Given the description of an element on the screen output the (x, y) to click on. 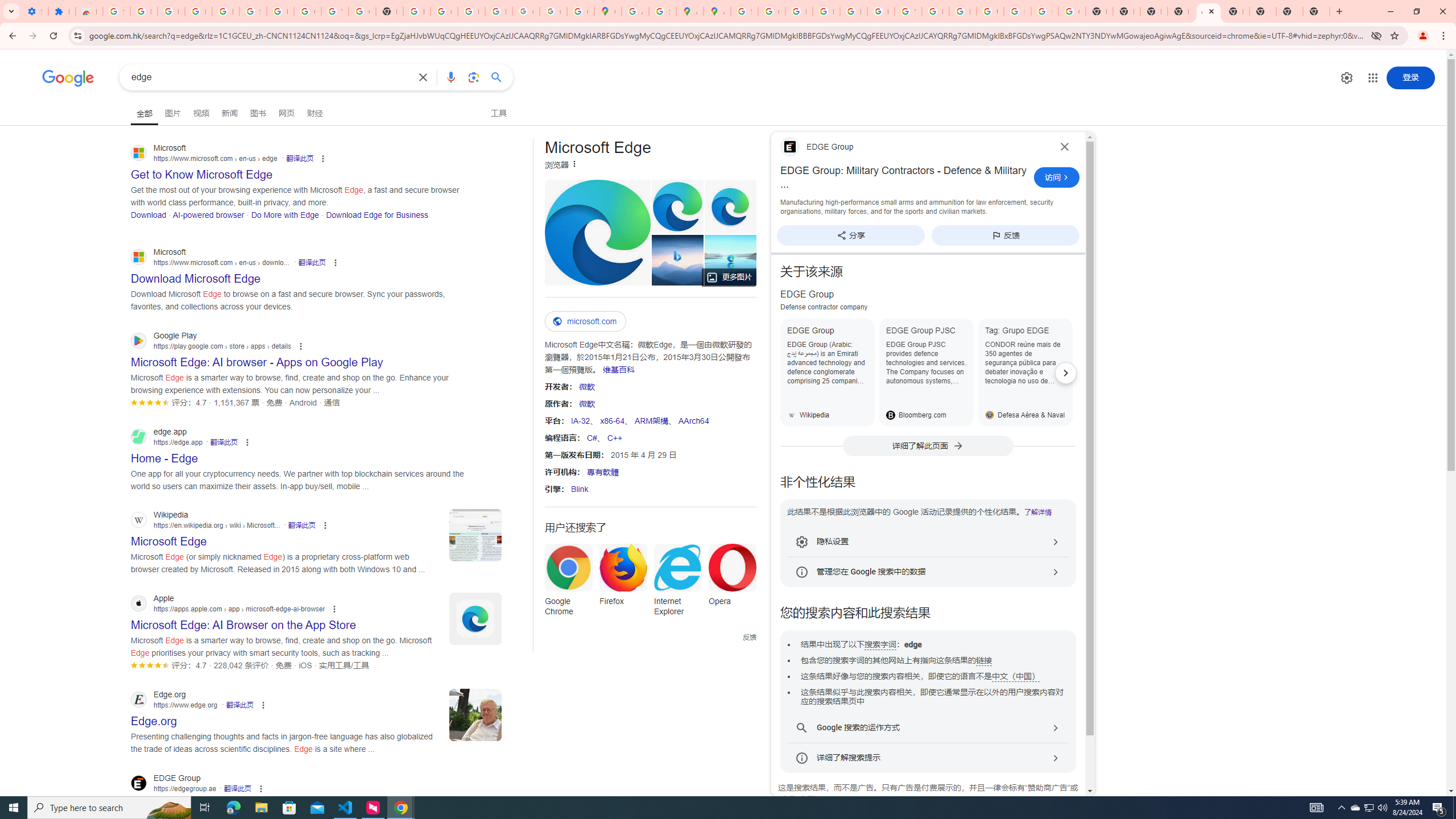
C# (591, 437)
New Tab (1180, 11)
Browse Chrome as a guest - Computer - Google Chrome Help (935, 11)
